Given the description of an element on the screen output the (x, y) to click on. 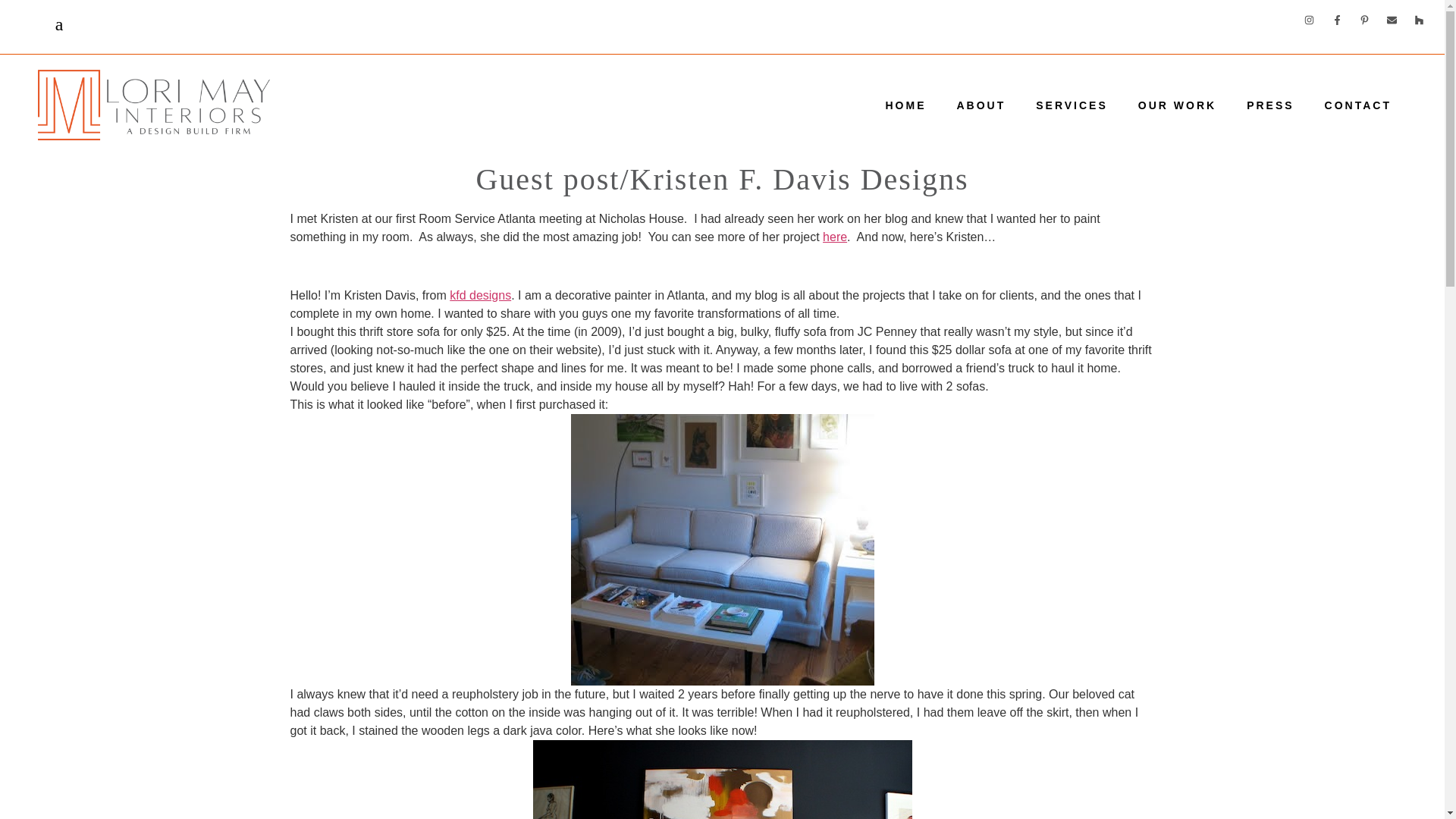
ABOUT (980, 104)
here (834, 236)
guest post 1 (721, 549)
OUR WORK (1176, 104)
kfd designs (480, 295)
guest post 2 (721, 779)
HOME (904, 104)
SERVICES (1071, 104)
PRESS (1269, 104)
CONTACT (1357, 104)
